Given the description of an element on the screen output the (x, y) to click on. 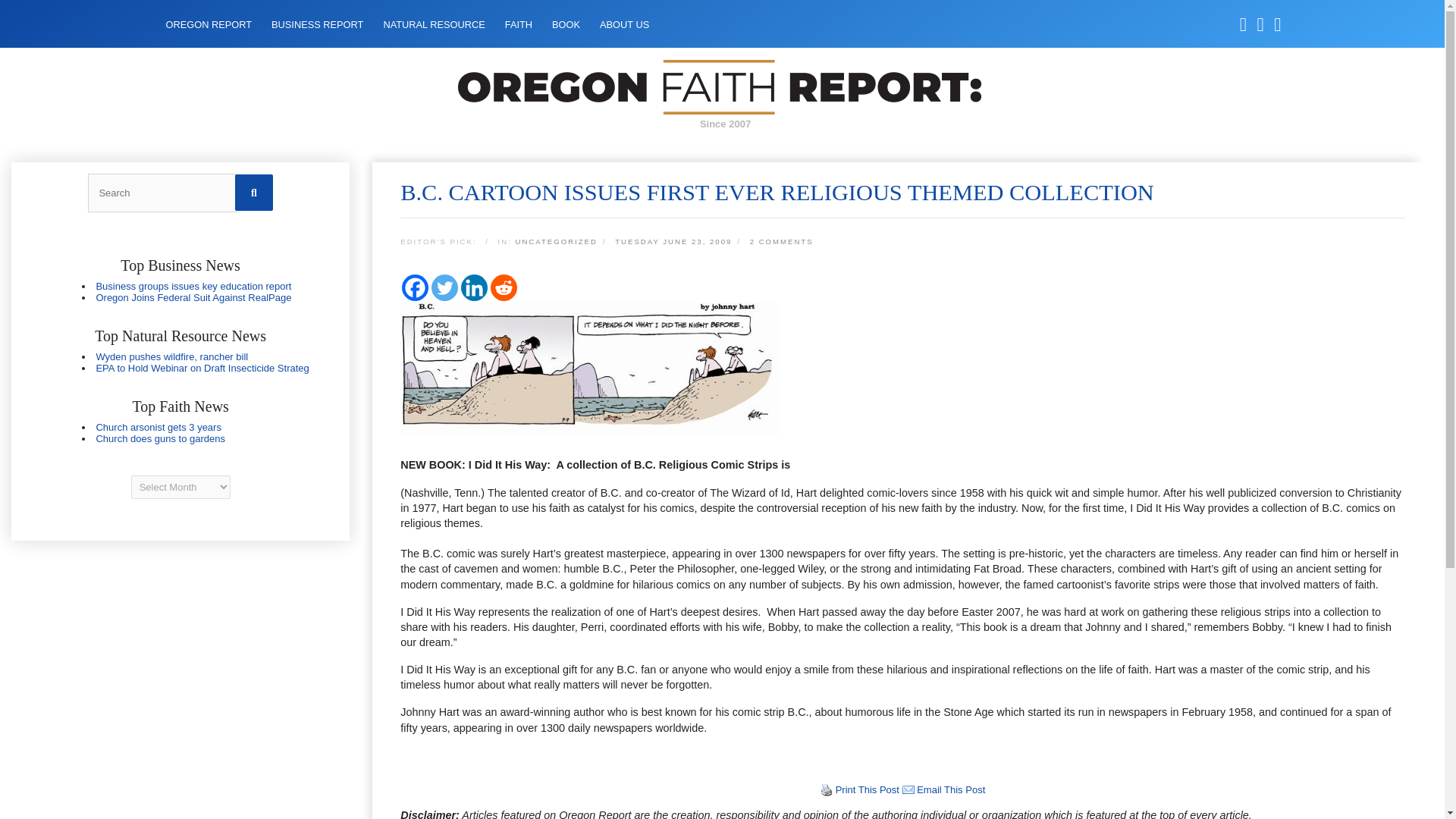
Print This Post (826, 789)
Print This Post (826, 789)
Oregon (179, 432)
Linkedin (474, 287)
Oregon (179, 362)
Oregon Joins Federal Suit Against RealPage (193, 297)
BUSINESS REPORT (316, 24)
Business groups issues key education report (193, 285)
comic-bs-johny-hart (589, 368)
Church does guns to gardens (160, 438)
